Given the description of an element on the screen output the (x, y) to click on. 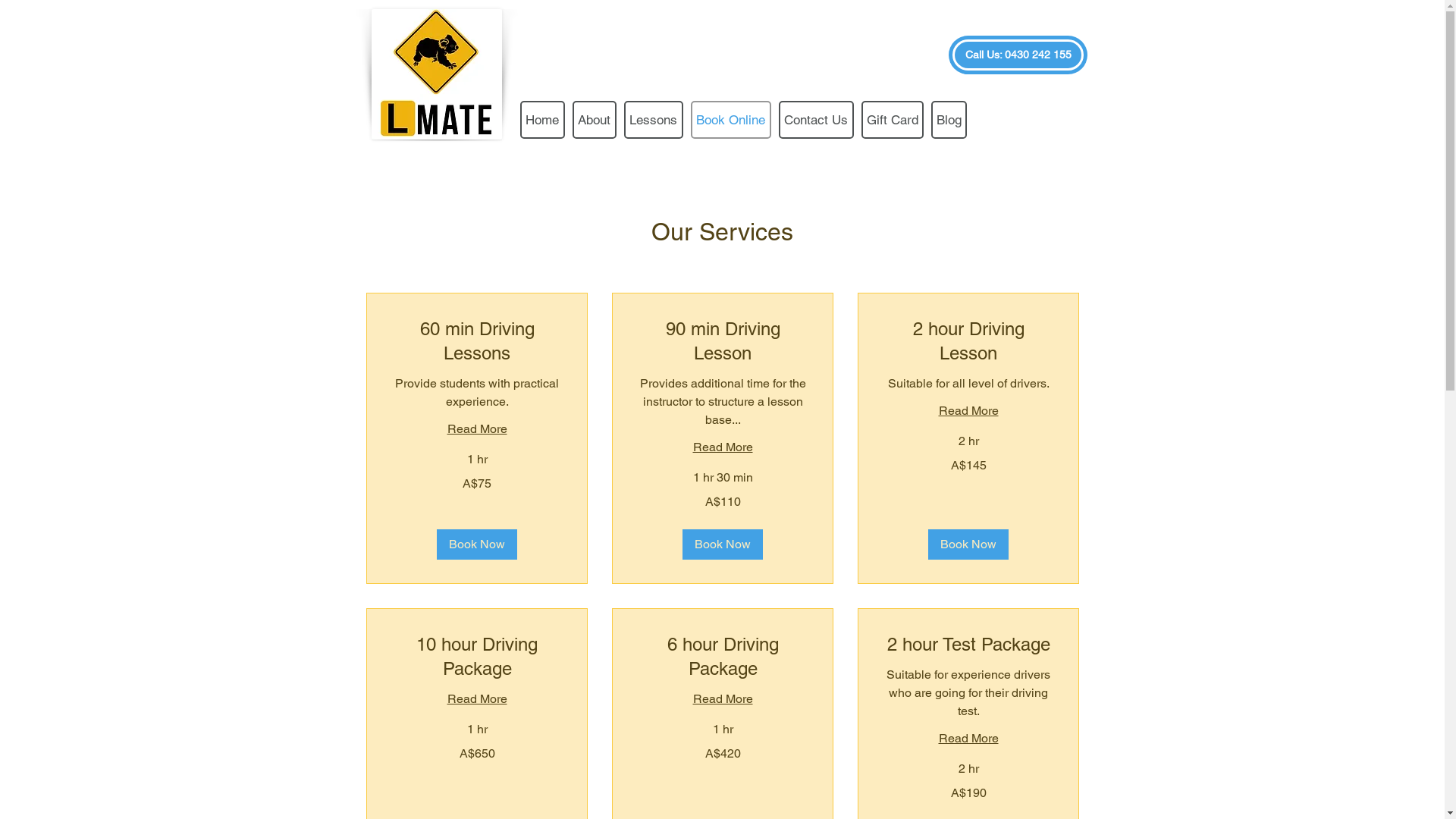
90 min Driving Lesson Element type: text (721, 340)
Book Online Element type: text (730, 119)
Book Now Element type: text (476, 544)
10 hour Driving Package Element type: text (475, 656)
Contact Us Element type: text (815, 119)
Read More Element type: text (722, 447)
2 hour Driving Lesson Element type: text (967, 340)
6 hour Driving Package Element type: text (721, 656)
Lessons Element type: text (652, 119)
Lmate Element type: hover (436, 74)
Gift Card Element type: text (892, 119)
Book Now Element type: text (968, 544)
Home Element type: text (542, 119)
Blog Element type: text (948, 119)
About Element type: text (593, 119)
Read More Element type: text (476, 429)
Read More Element type: text (967, 738)
60 min Driving Lessons Element type: text (475, 340)
Read More Element type: text (967, 410)
2 hour Test Package Element type: text (967, 644)
Book Now Element type: text (722, 544)
Read More Element type: text (476, 699)
Read More Element type: text (722, 699)
